Given the description of an element on the screen output the (x, y) to click on. 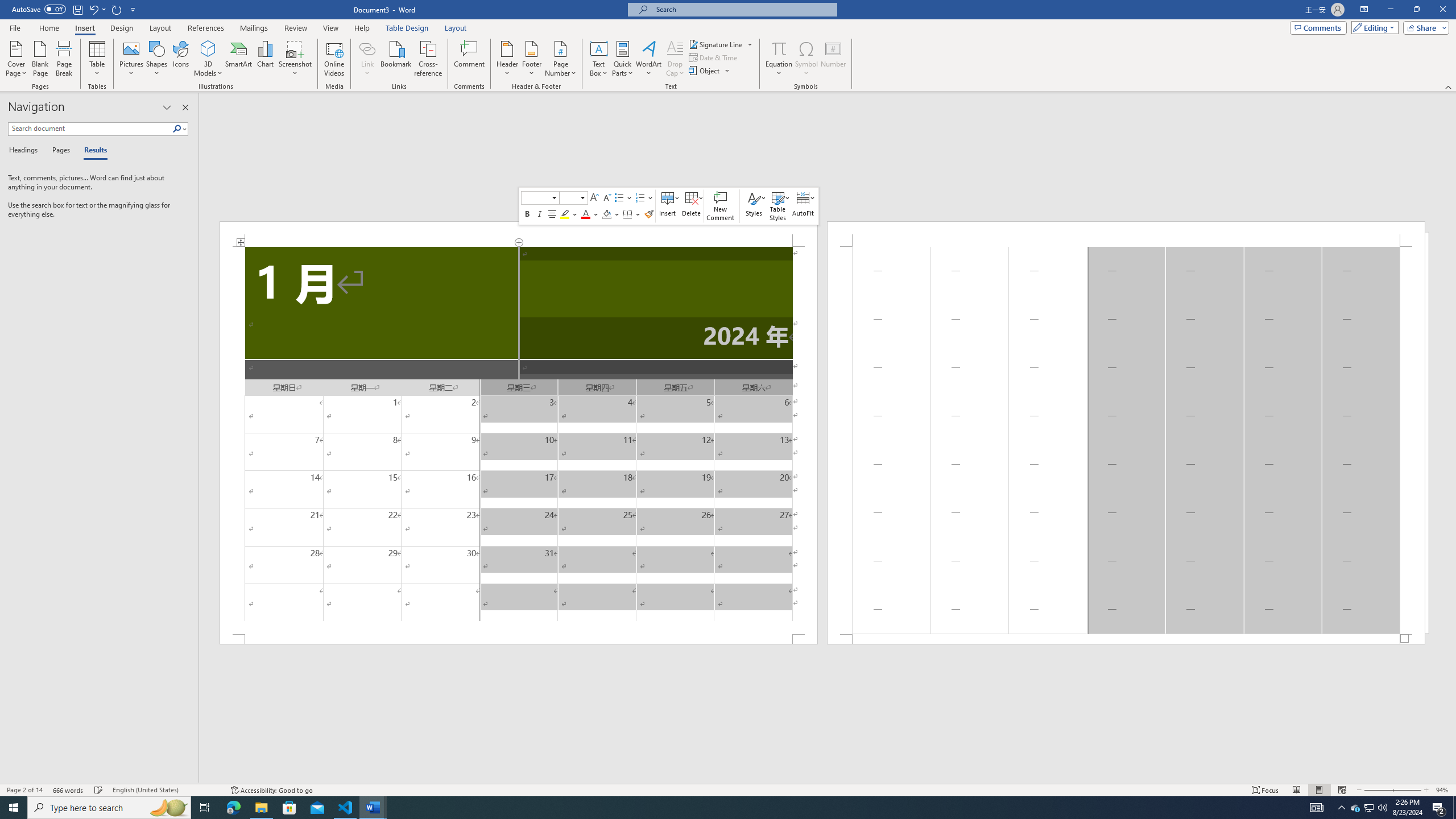
Link (367, 58)
Grow Font (593, 197)
Pages (59, 150)
Search document (89, 128)
Chart... (265, 58)
Format Painter (648, 214)
Language English (United States) (165, 790)
